Given the description of an element on the screen output the (x, y) to click on. 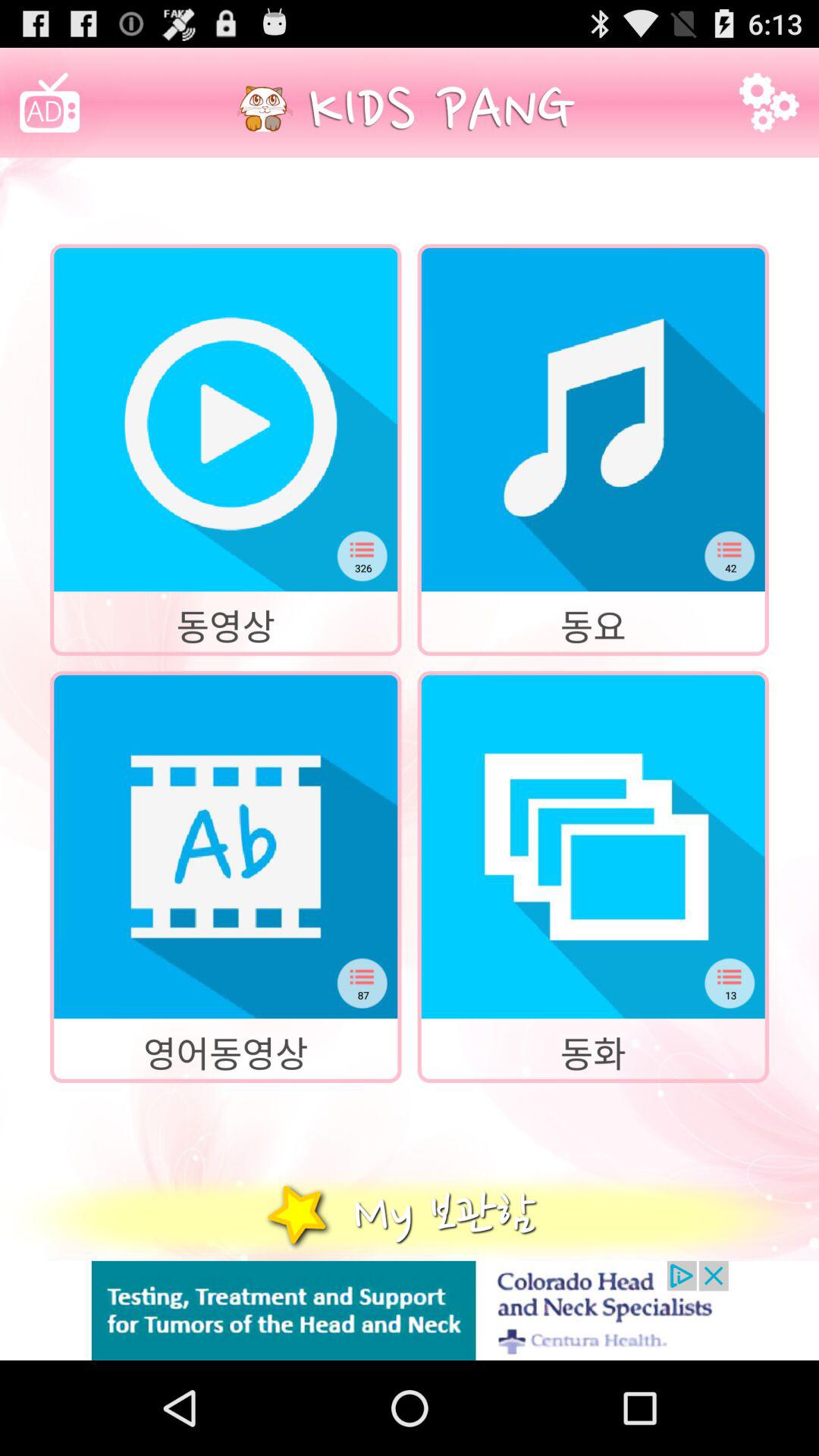
go to settings icon in right top (769, 102)
click on image with ad at top left corner (49, 102)
click on the cat image which is to the left of kids pang (264, 108)
select the first image (225, 419)
